Given the description of an element on the screen output the (x, y) to click on. 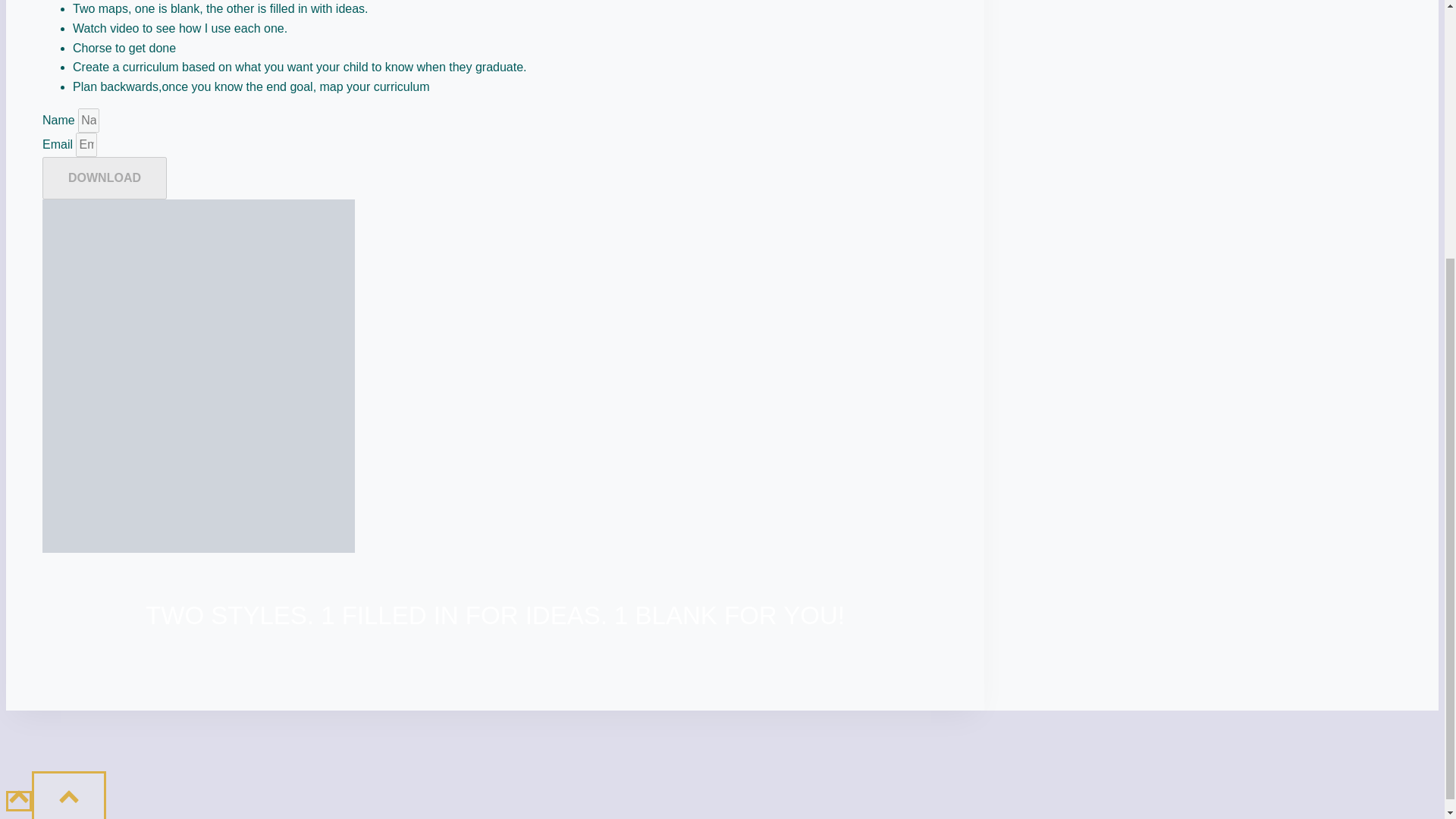
DOWNLOAD (104, 177)
